Given the description of an element on the screen output the (x, y) to click on. 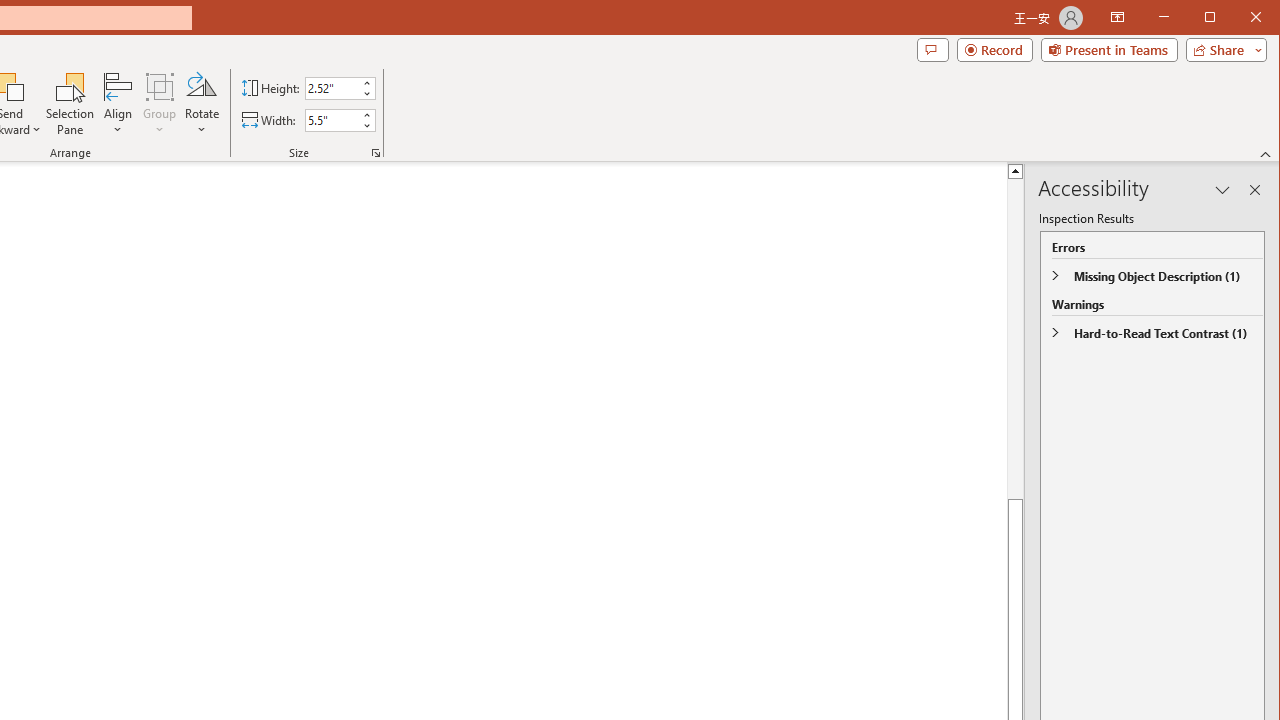
Size and Position... (376, 152)
Group (159, 104)
Rotate (201, 104)
Selection Pane... (70, 104)
More (366, 115)
Shape Height (331, 88)
